Given the description of an element on the screen output the (x, y) to click on. 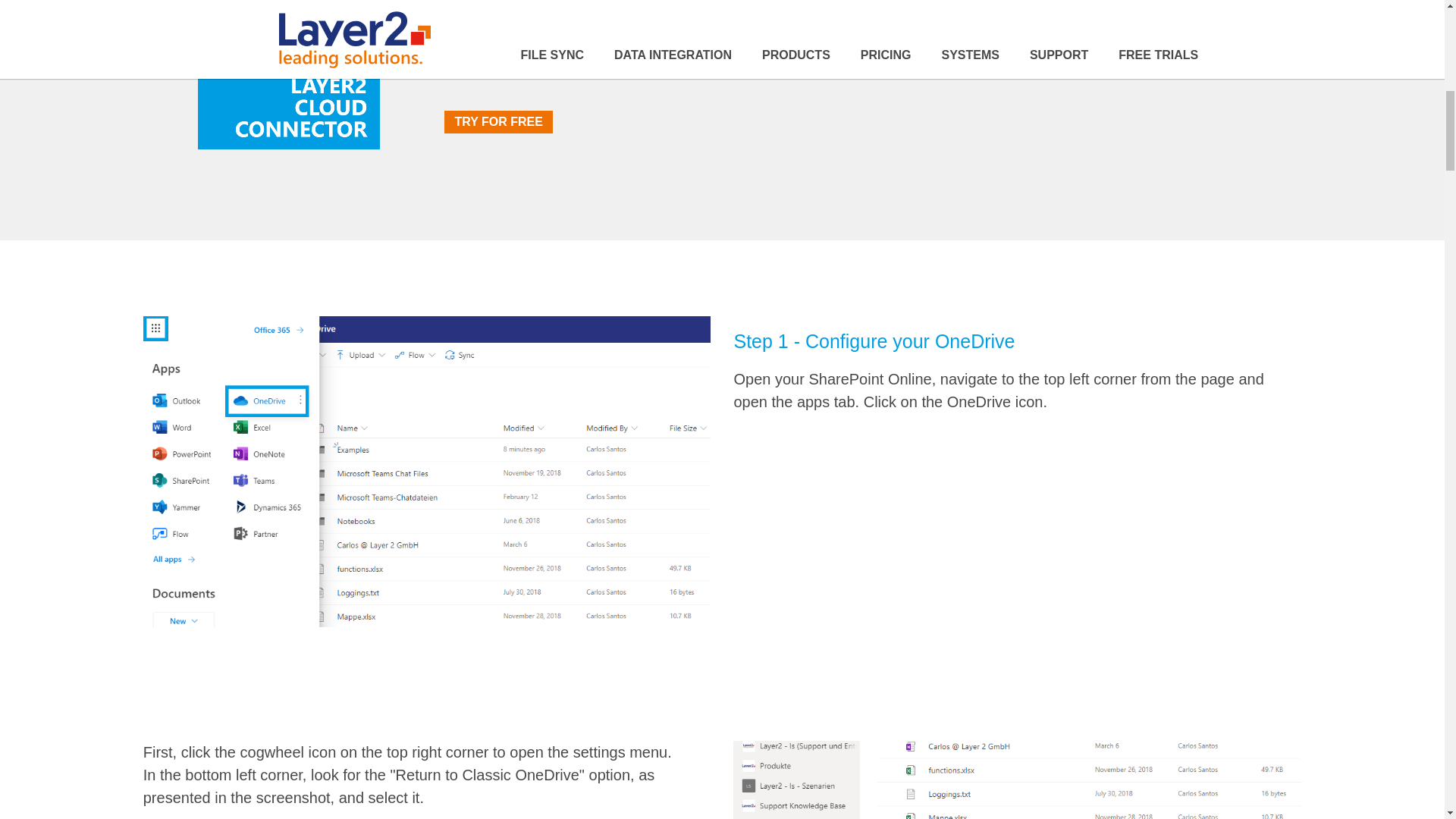
TRY FOR FREE (497, 121)
Layer2 Cloud Connector Logo (289, 74)
